Given the description of an element on the screen output the (x, y) to click on. 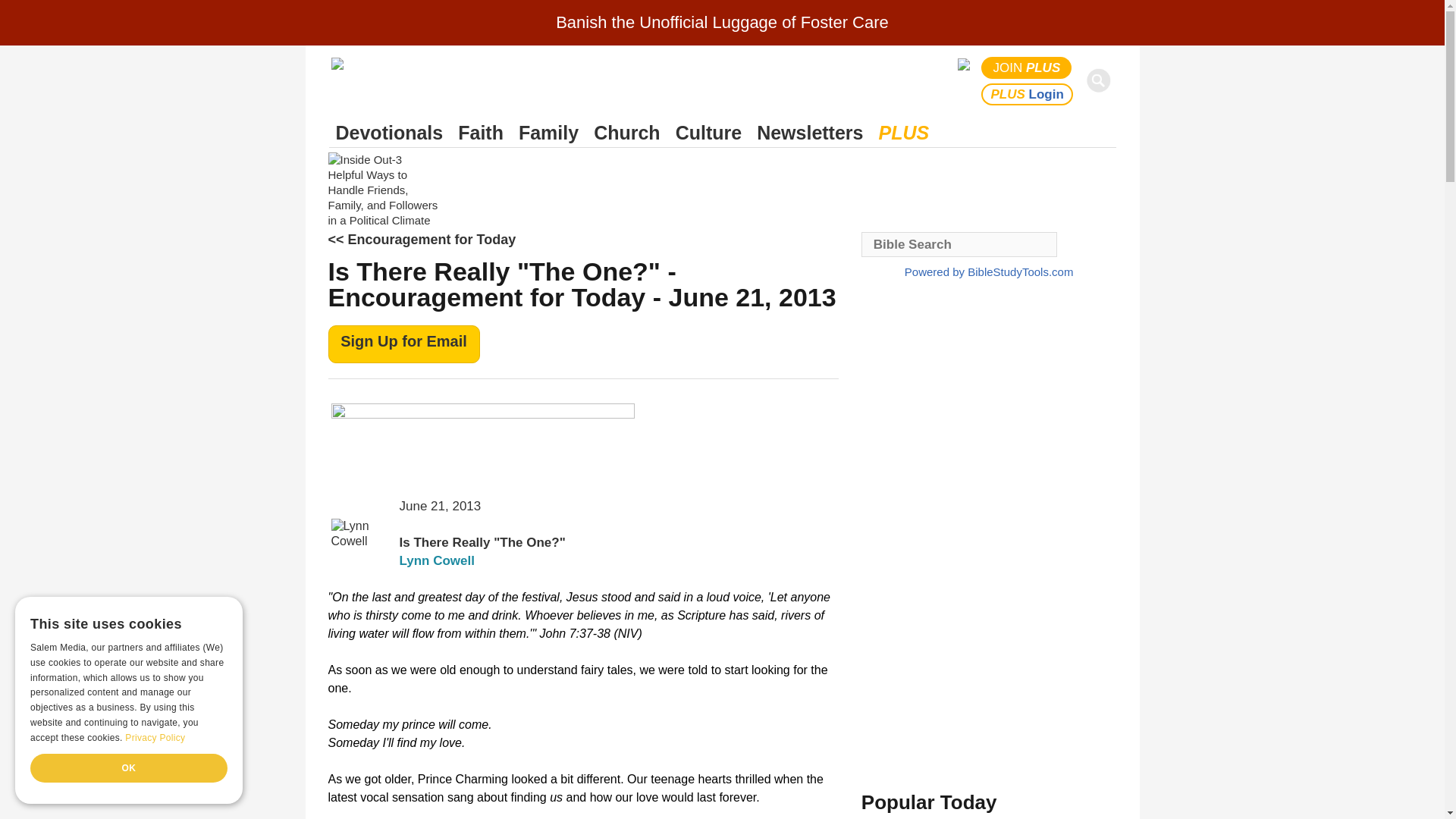
Join Plus (1026, 67)
JOIN PLUS (1026, 67)
Devotionals (389, 132)
Plus Login (1026, 94)
Search (1101, 80)
PLUS Login (1026, 94)
